Given the description of an element on the screen output the (x, y) to click on. 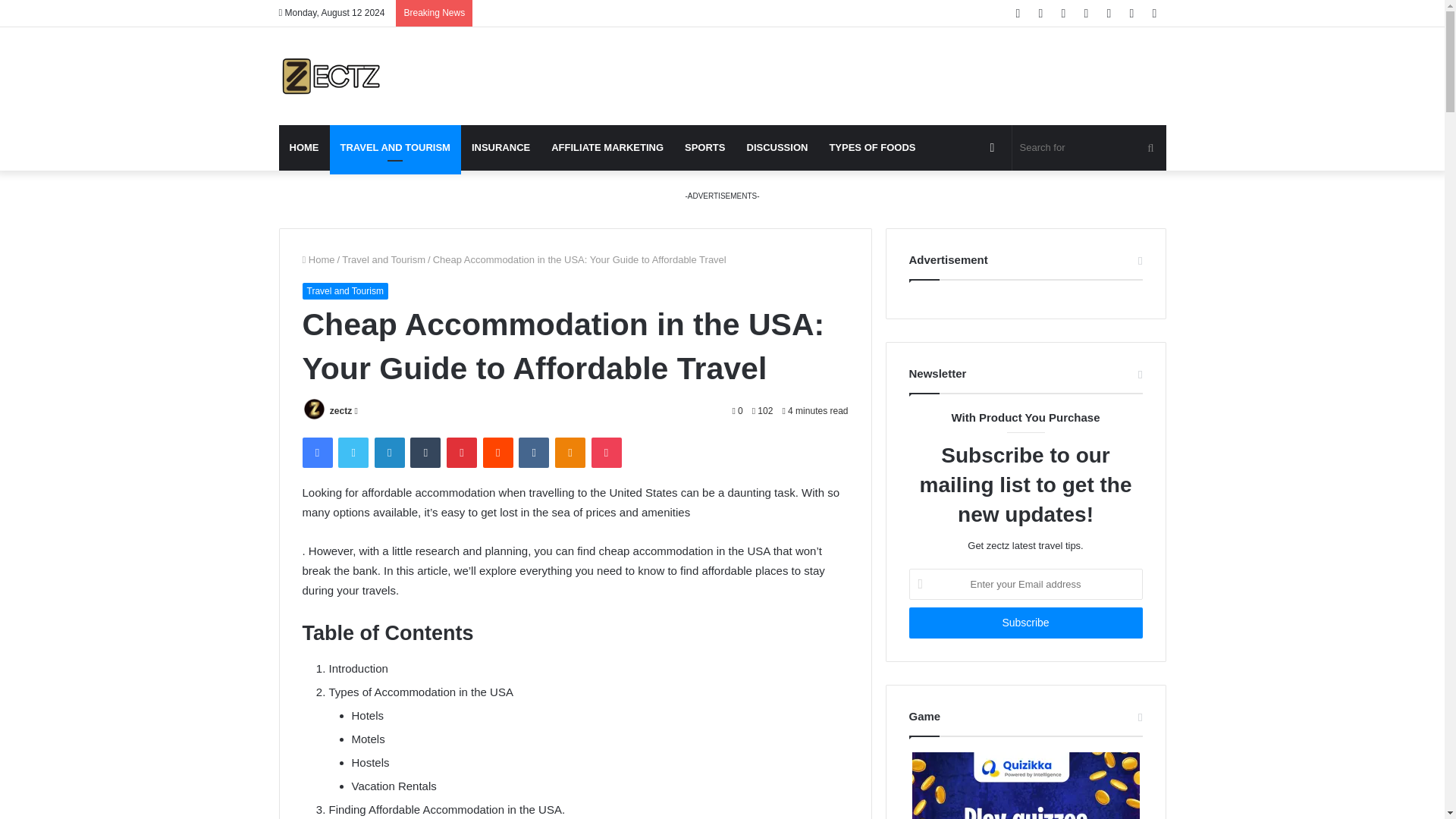
LinkedIn (389, 452)
HOME (304, 147)
DISCUSSION (776, 147)
Facebook (316, 452)
Zectz Travel (330, 76)
Pinterest (461, 452)
Pinterest (461, 452)
Travel and Tourism (344, 290)
INSURANCE (500, 147)
Tumblr (425, 452)
